Given the description of an element on the screen output the (x, y) to click on. 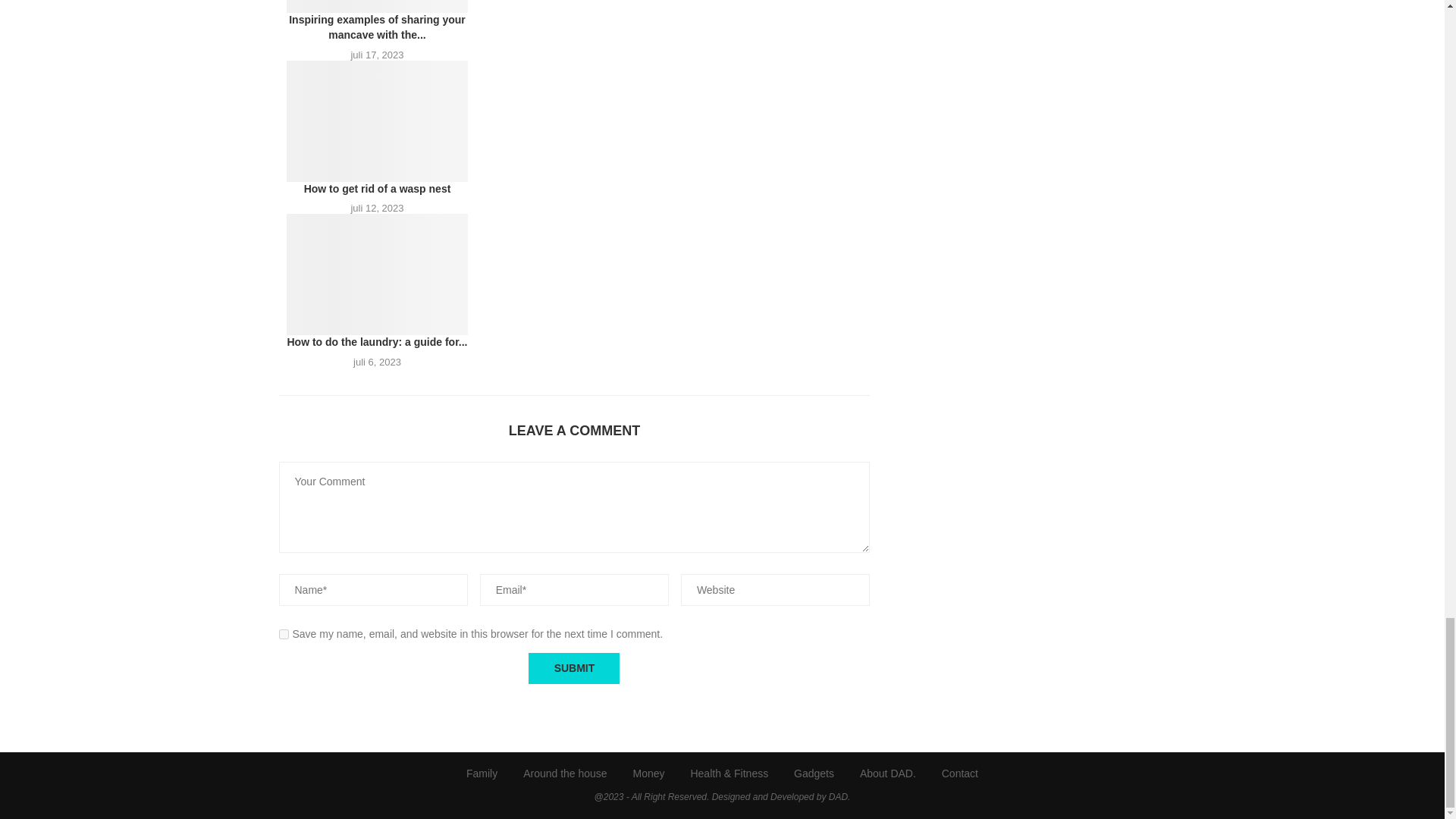
yes (283, 634)
How to do the laundry: a guide for dads (377, 273)
How to get rid of a wasp nest (377, 120)
Submit (574, 667)
Inspiring examples of sharing your mancave with the kids (377, 6)
